Given the description of an element on the screen output the (x, y) to click on. 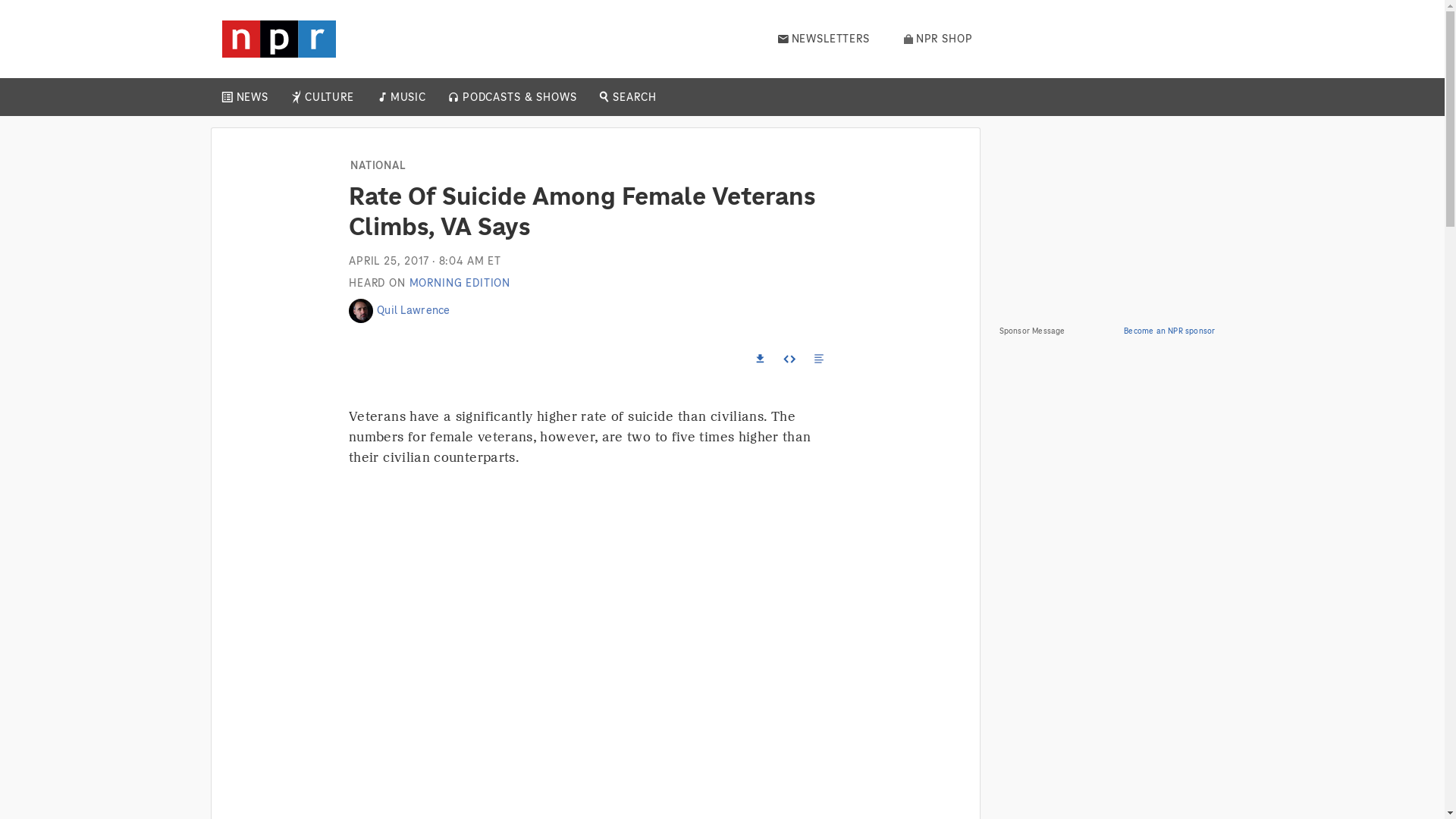
NPR SHOP (938, 38)
CULTURE (328, 96)
NEWSLETTERS (823, 38)
MUSIC (407, 96)
NEWS (251, 96)
